Given the description of an element on the screen output the (x, y) to click on. 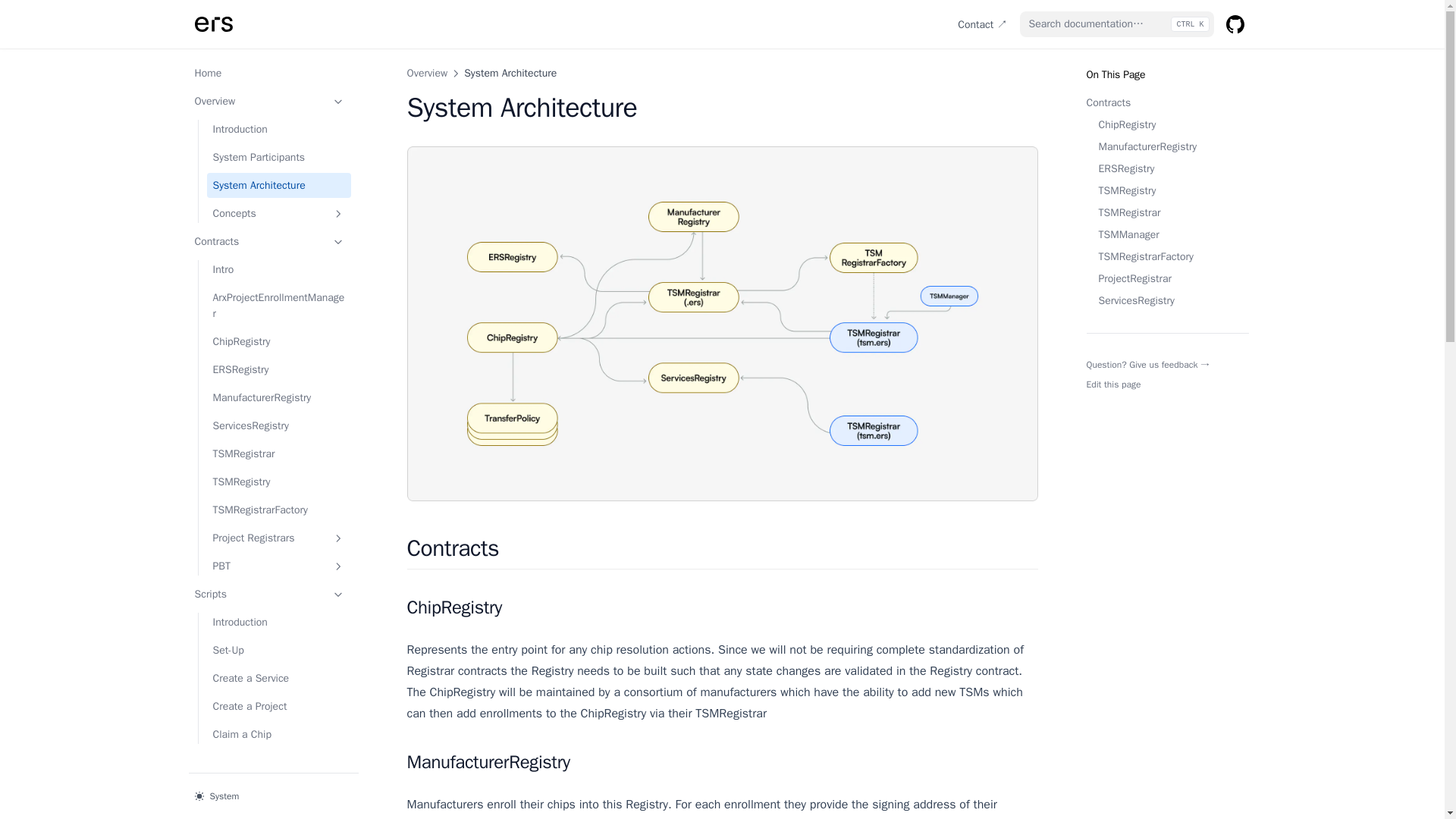
Concepts (278, 213)
ServicesRegistry (1166, 300)
TSMRegistrar (278, 453)
TSMRegistrar (1166, 212)
ManufacturerRegistry (1166, 146)
Change theme (272, 795)
TSMRegistry (278, 481)
Introduction (278, 129)
ProjectRegistrar (1166, 278)
Set-Up (278, 650)
Contracts (268, 241)
Claim a Chip (278, 733)
Create a Project (278, 706)
Intro (278, 269)
Create a Service (278, 678)
